Given the description of an element on the screen output the (x, y) to click on. 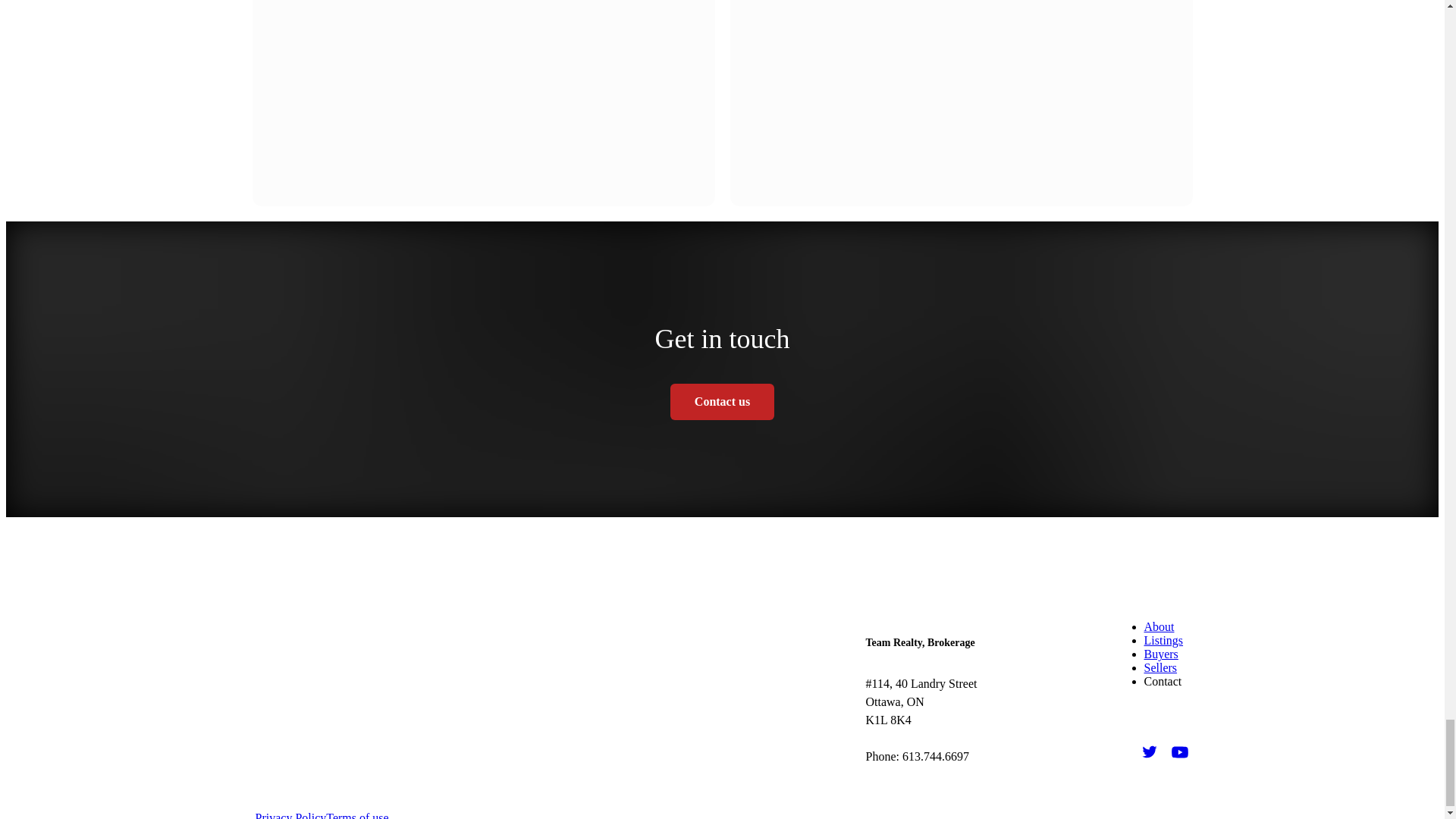
Contact us (721, 402)
Sellers (1159, 667)
About (1157, 626)
Buyers (1159, 653)
Listings (1162, 640)
